Given the description of an element on the screen output the (x, y) to click on. 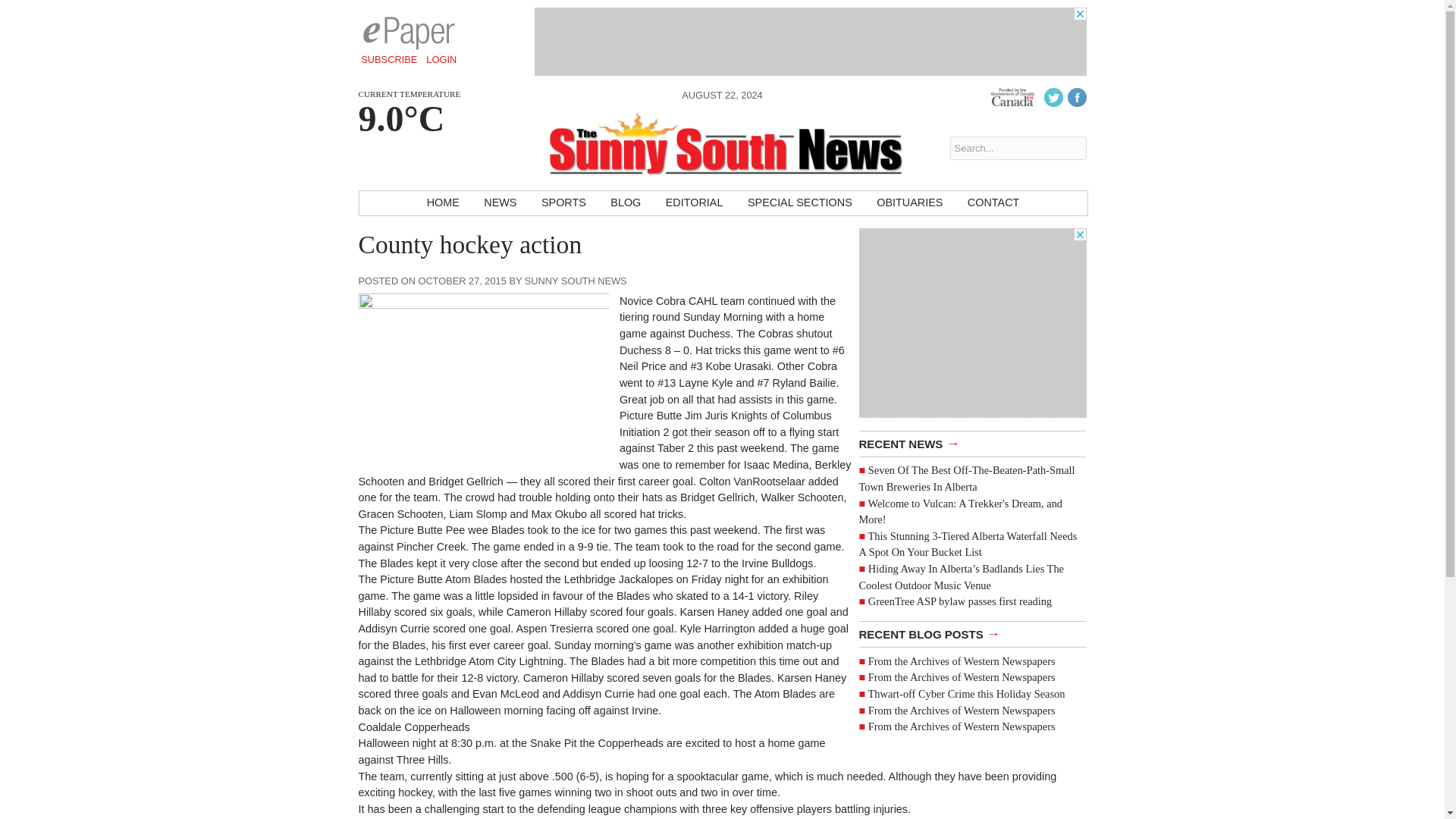
From the Archives of Western Newspapers (961, 709)
3rd party ad content (972, 322)
From the Archives of Western Newspapers (961, 726)
SPECIAL SECTIONS (799, 202)
LOGIN (441, 58)
HOME (443, 202)
From the Archives of Western Newspapers (961, 661)
Welcome to Vulcan: A Trekker's Dream, and More! (960, 511)
SUBSCRIBE (389, 58)
OBITUARIES (909, 202)
